Given the description of an element on the screen output the (x, y) to click on. 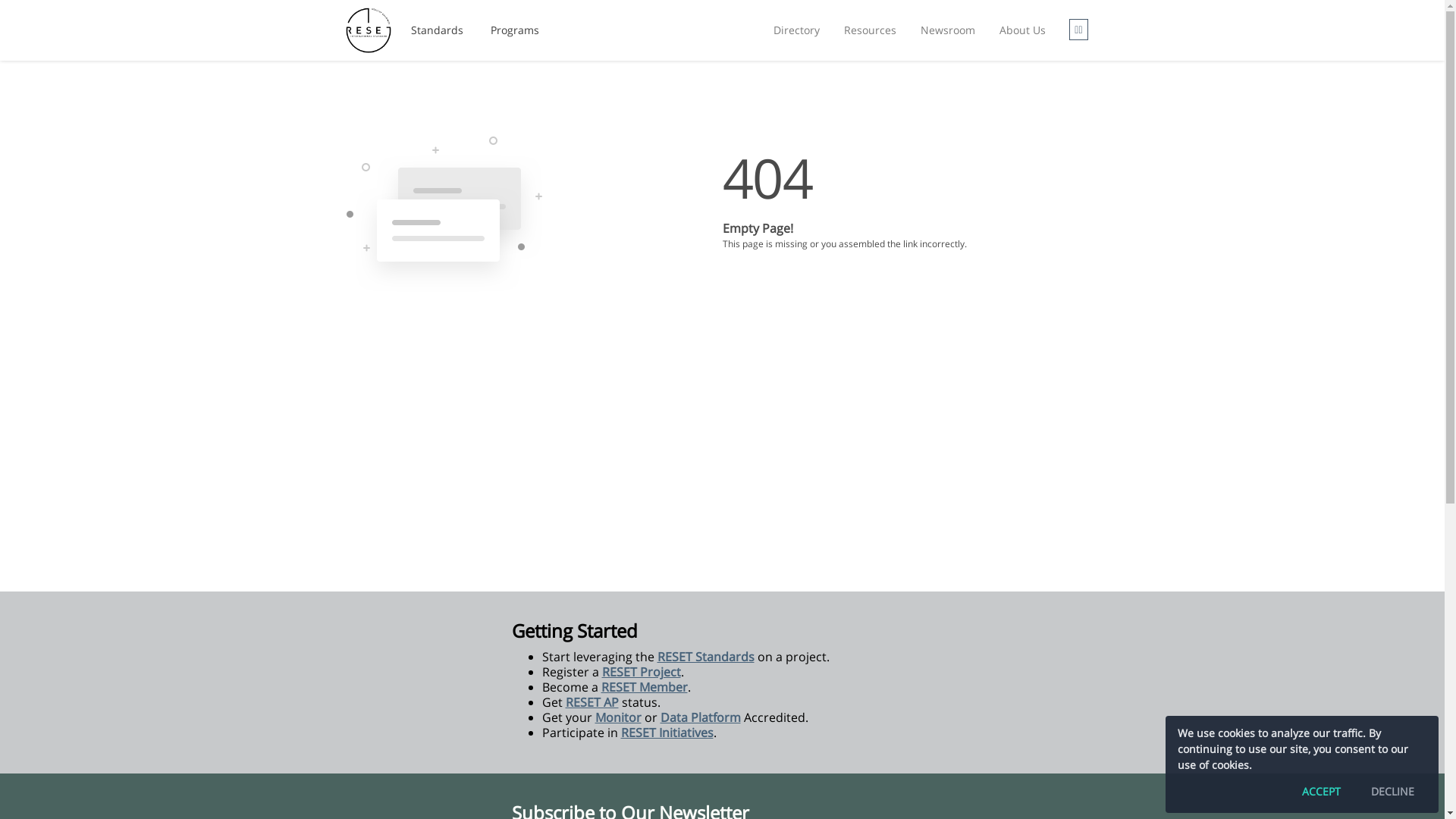
RESET Member Element type: text (643, 686)
Newsroom Element type: text (947, 30)
RESET AP Element type: text (591, 701)
Directory Element type: text (796, 30)
Standards Element type: text (436, 30)
RESET Project Element type: text (641, 671)
RESET Standards Element type: text (704, 656)
DECLINE Element type: text (1392, 790)
About Us Element type: text (1022, 30)
Monitor Element type: text (617, 717)
Data Platform Element type: text (699, 717)
Resources Element type: text (869, 30)
RESET Initiatives Element type: text (666, 732)
ACCEPT Element type: text (1320, 790)
Programs Element type: text (514, 30)
